Given the description of an element on the screen output the (x, y) to click on. 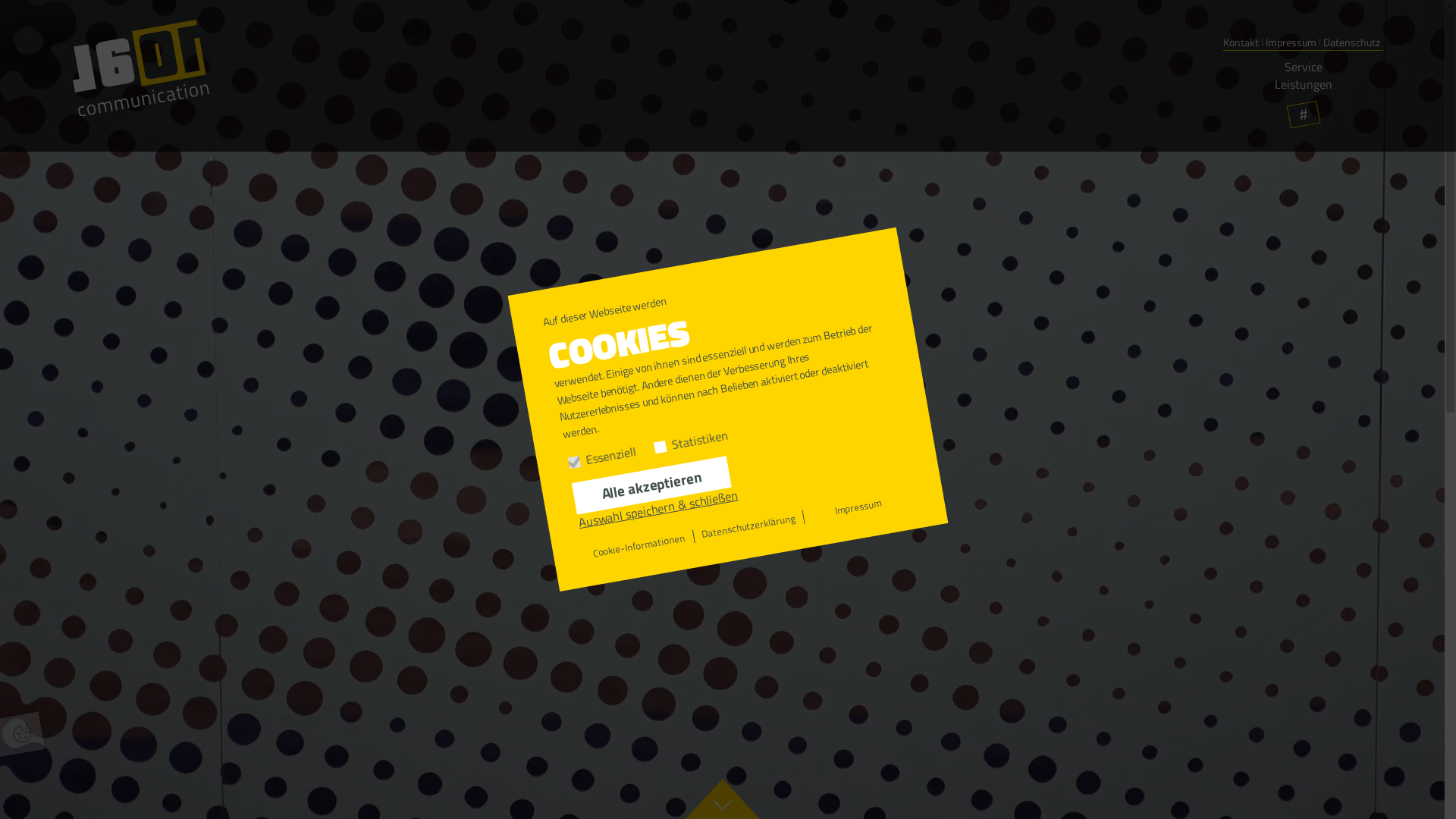
  Element type: text (1382, 32)
Alle akzeptieren Element type: text (649, 472)
Leistungen Element type: text (1302, 83)
Datenschutz Element type: text (1351, 42)
Cookie-Informationen Element type: text (638, 536)
  Element type: text (1302, 91)
Impressum Element type: text (1290, 42)
Service Element type: text (1303, 66)
Impressum Element type: text (858, 498)
Kontakt Element type: text (1240, 42)
